Given the description of an element on the screen output the (x, y) to click on. 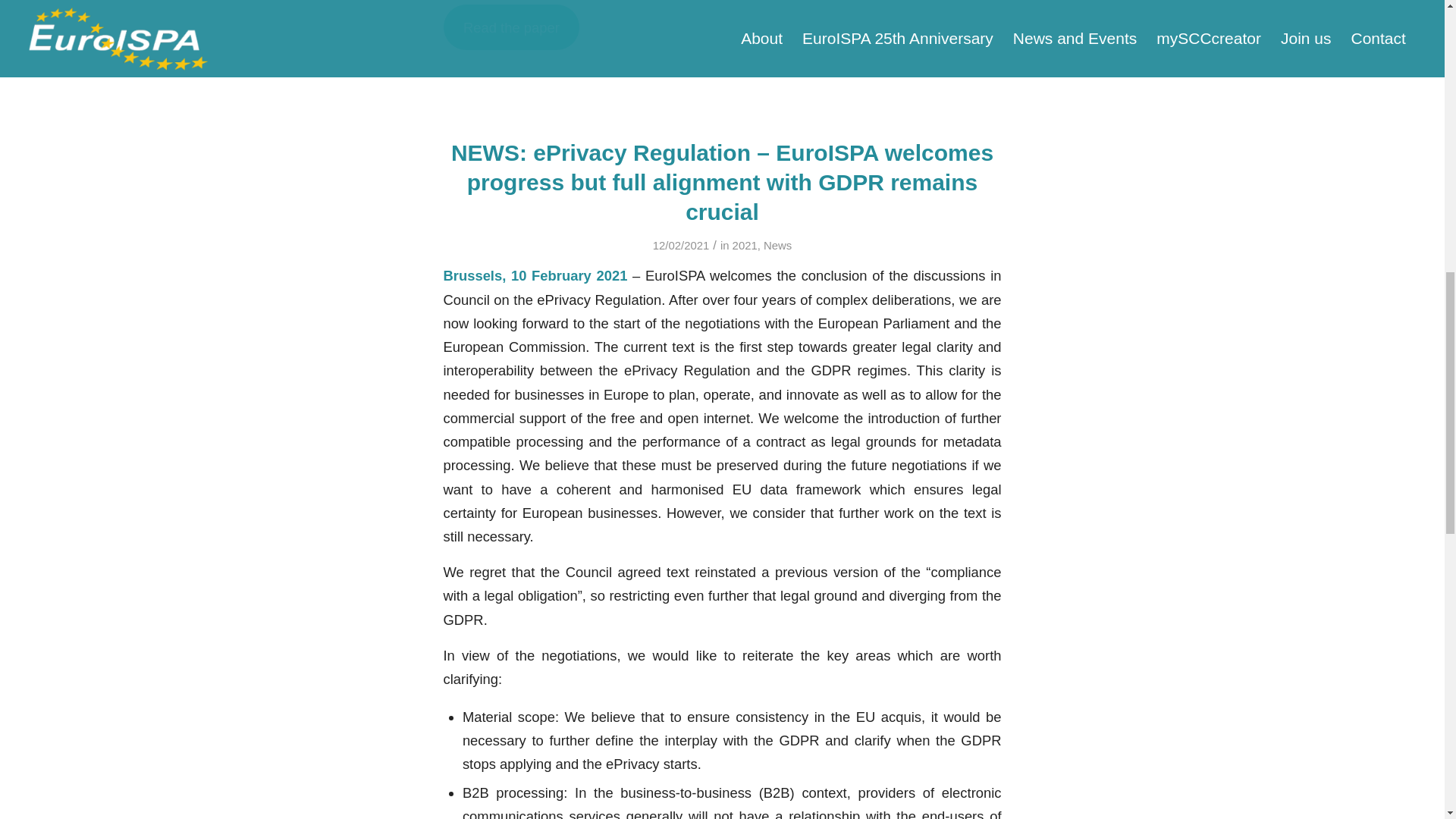
News (777, 245)
Read the paper (510, 26)
2021 (744, 245)
